Given the description of an element on the screen output the (x, y) to click on. 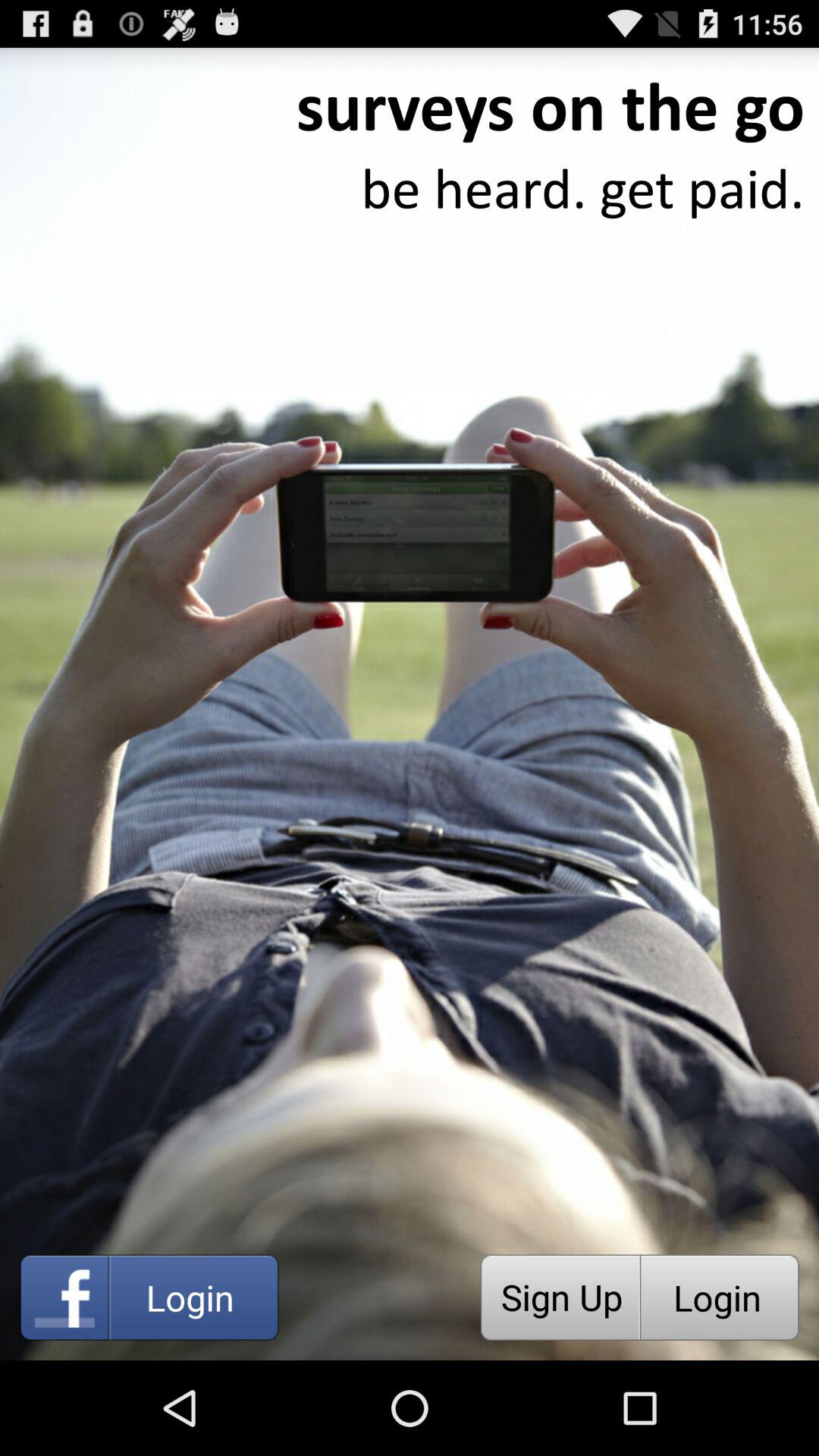
tap the item next to login button (559, 1297)
